Given the description of an element on the screen output the (x, y) to click on. 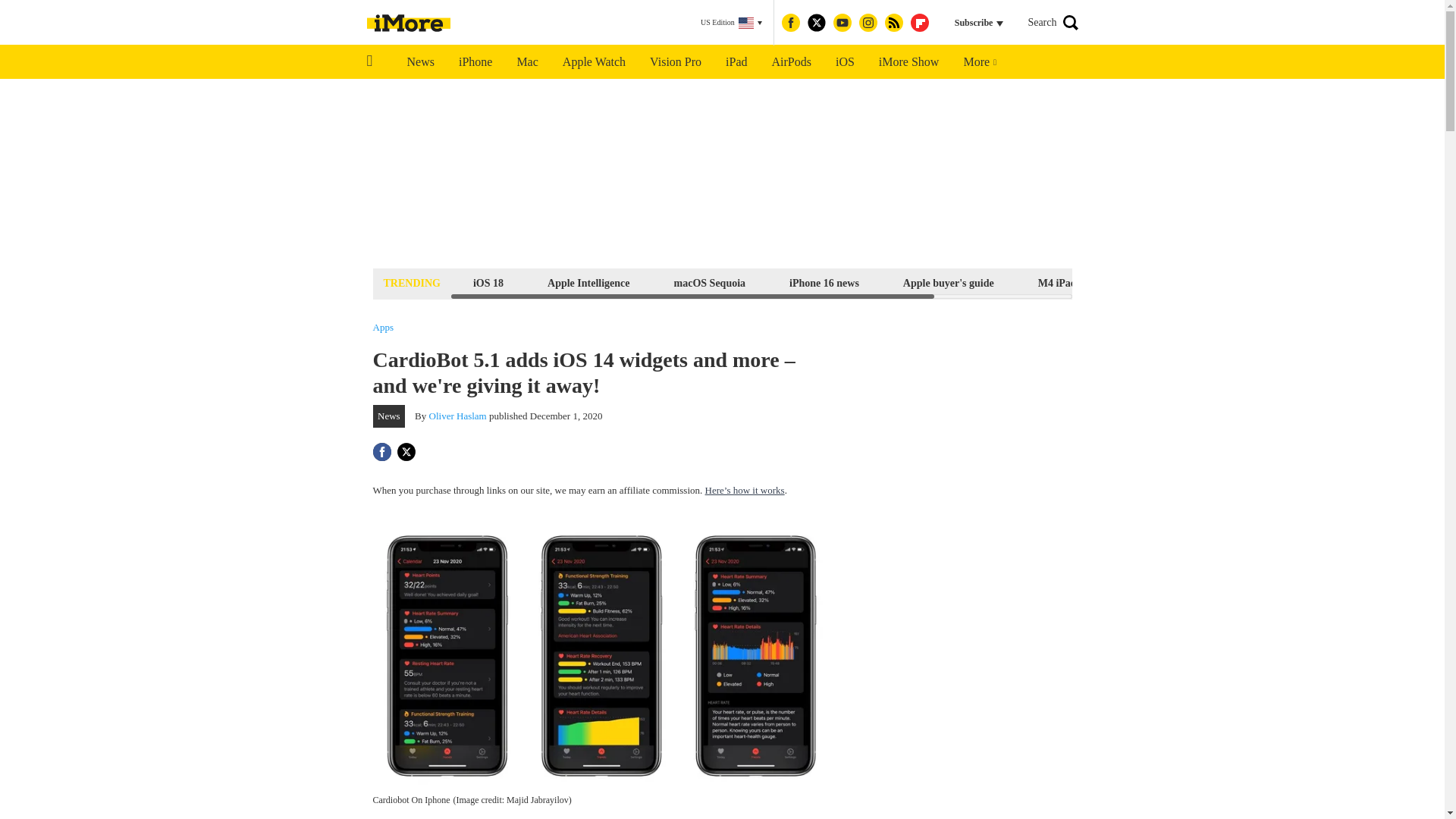
iMore Show (909, 61)
Vision Pro (675, 61)
Apple Watch (593, 61)
iPhone (474, 61)
AirPods (792, 61)
iOS (845, 61)
iPad (735, 61)
Mac (526, 61)
News (419, 61)
US Edition (731, 22)
